Given the description of an element on the screen output the (x, y) to click on. 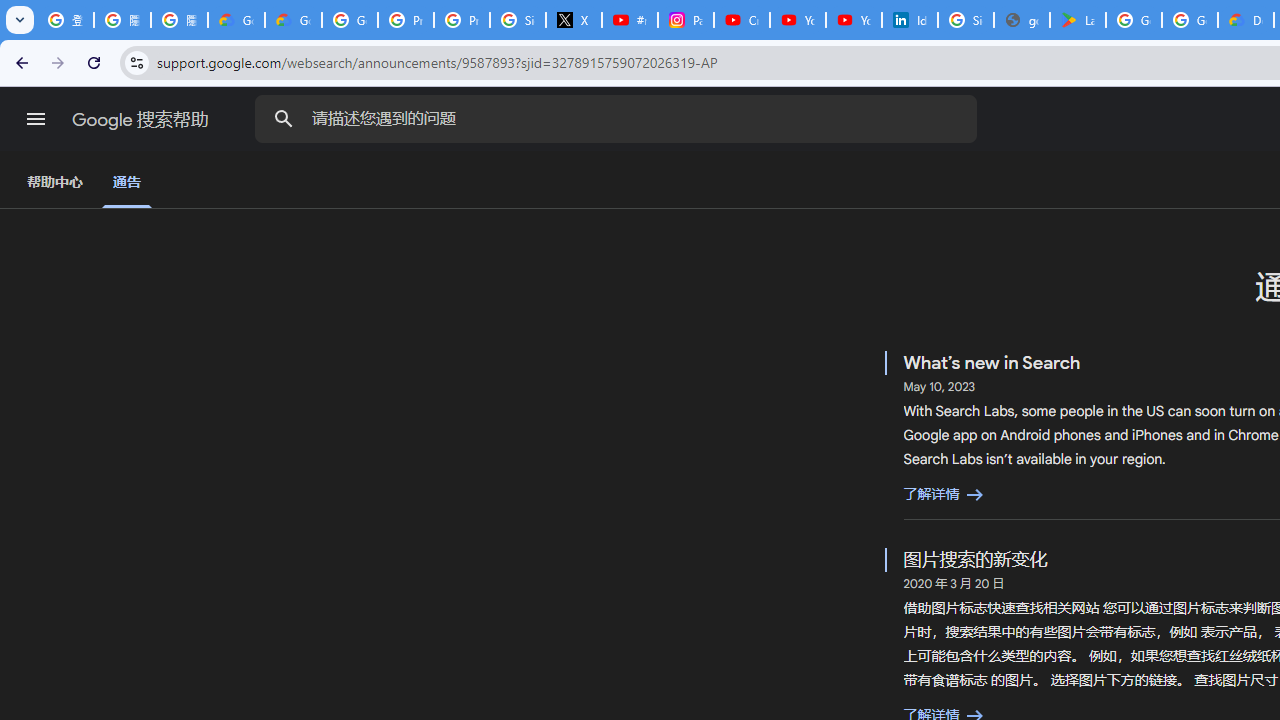
Identity verification via Persona | LinkedIn Help (909, 20)
google_privacy_policy_en.pdf (1021, 20)
Sign in - Google Accounts (966, 20)
Sign in - Google Accounts (518, 20)
Last Shelter: Survival - Apps on Google Play (1077, 20)
Privacy Help Center - Policies Help (461, 20)
#nbabasketballhighlights - YouTube (629, 20)
Google Workspace - Specific Terms (1190, 20)
